Given the description of an element on the screen output the (x, y) to click on. 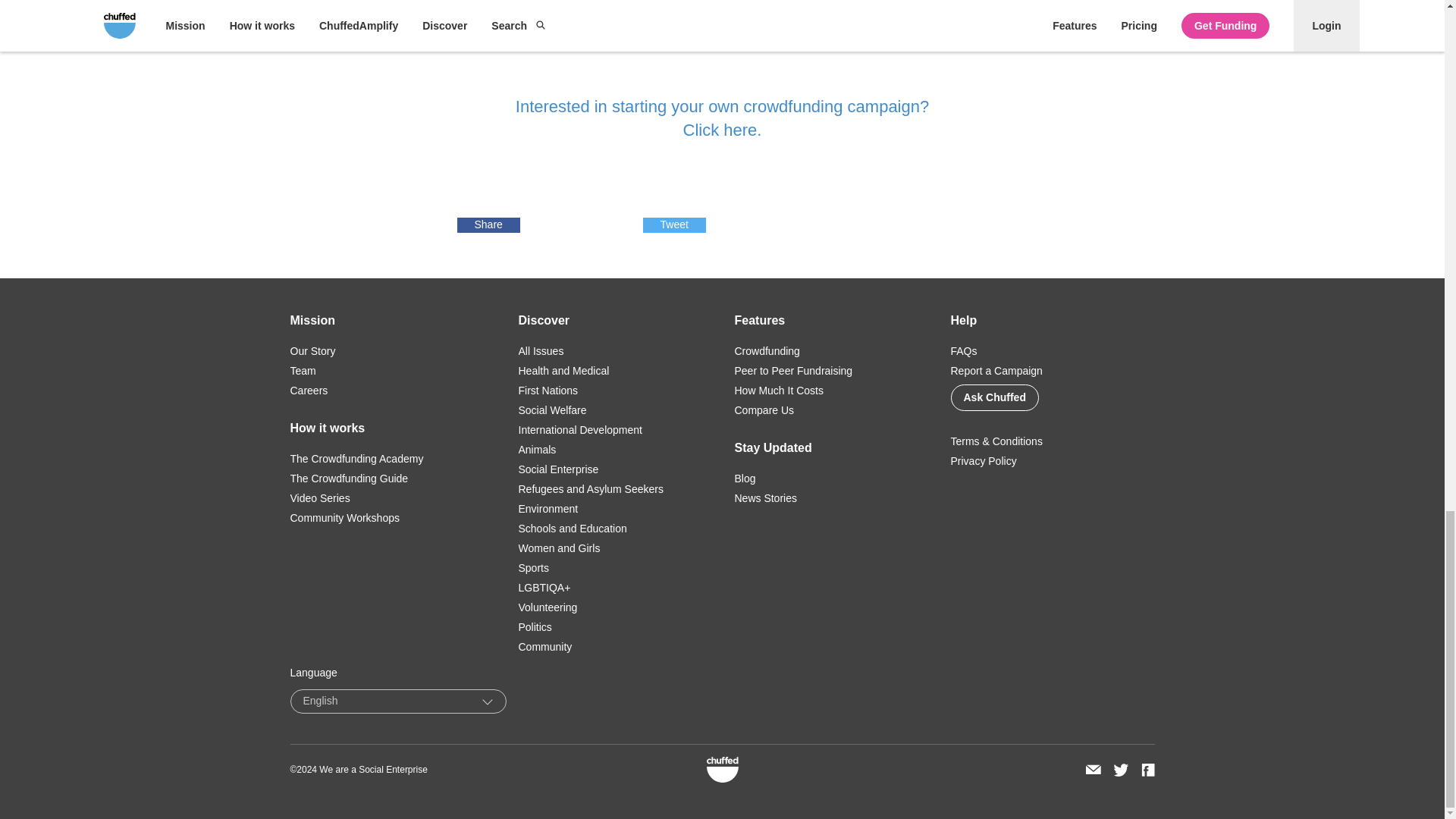
Careers (308, 390)
Our Story (311, 350)
The Crowdfunding Academy (356, 458)
Social Welfare (552, 410)
Tweet (674, 224)
The Crowdfunding Guide (348, 478)
Community Workshops (343, 517)
International Development (580, 429)
First Nations (548, 390)
Team (302, 370)
